Given the description of an element on the screen output the (x, y) to click on. 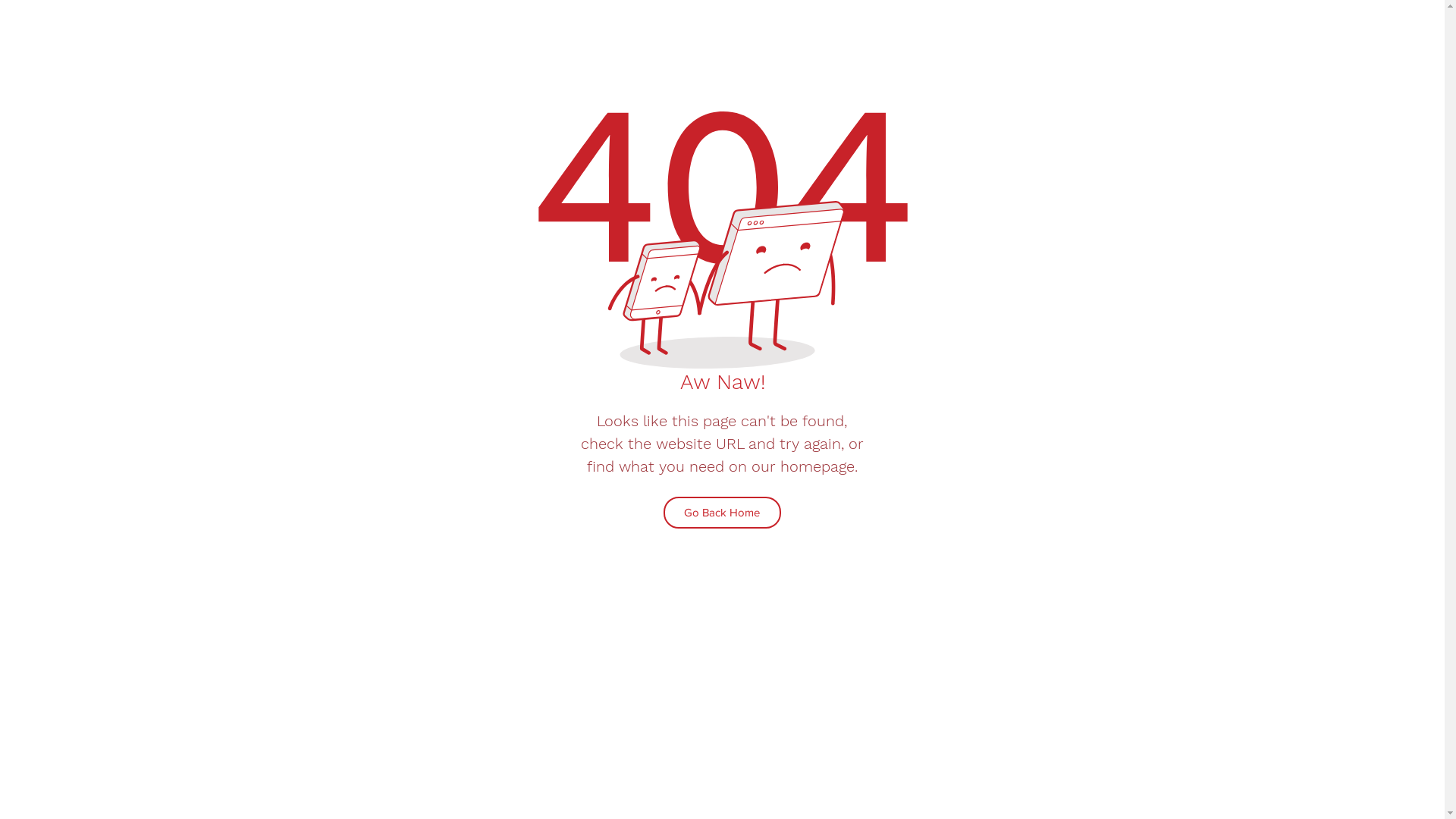
Go Back Home Element type: text (721, 512)
